Given the description of an element on the screen output the (x, y) to click on. 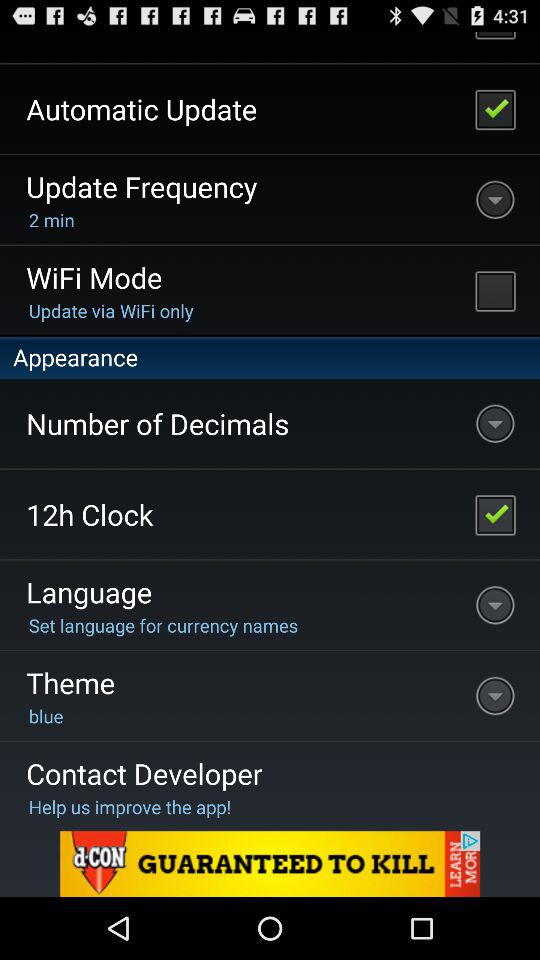
toggle for wifi updates only (495, 290)
